Given the description of an element on the screen output the (x, y) to click on. 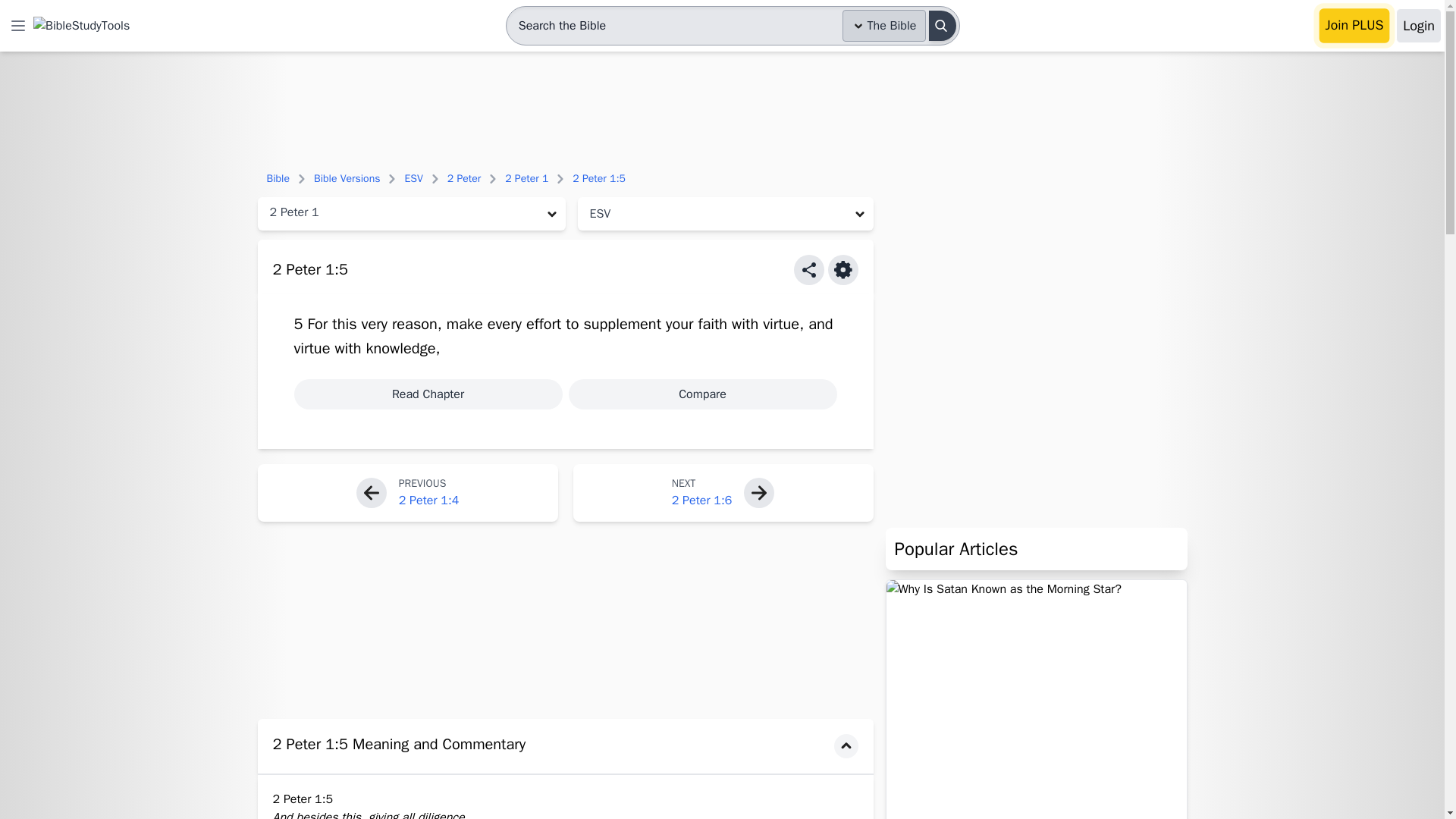
Login (1418, 25)
The Bible (884, 25)
Join PLUS (1354, 25)
Scripture Settings (843, 269)
